Given the description of an element on the screen output the (x, y) to click on. 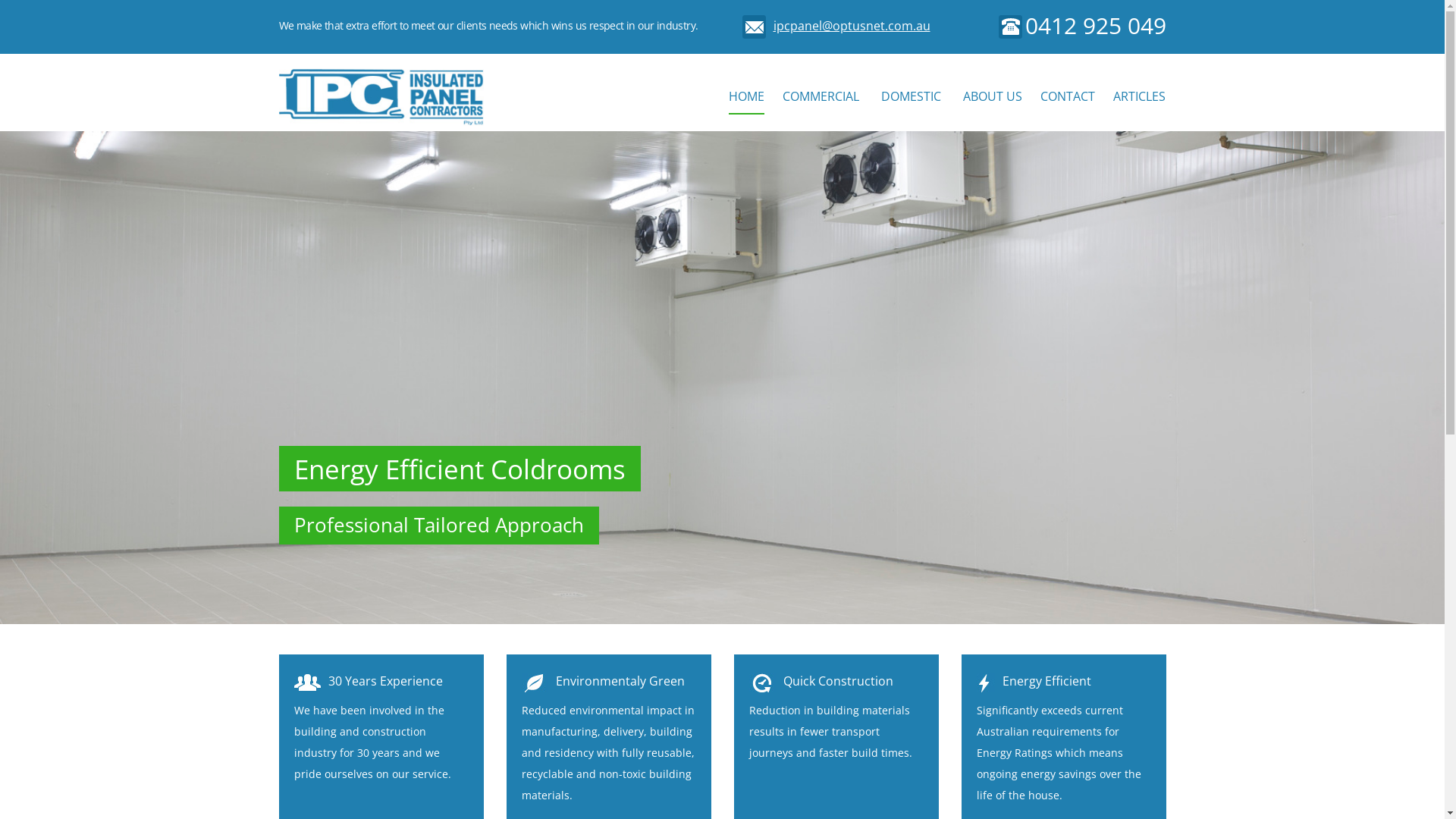
ipcpanel@optusnet.com.au Element type: text (851, 25)
HOME Element type: text (746, 96)
ARTICLES Element type: text (1139, 95)
ABOUT US Element type: text (992, 95)
CONTACT Element type: text (1067, 95)
COMMERCIAL Element type: text (820, 95)
DOMESTIC Element type: text (911, 95)
